Given the description of an element on the screen output the (x, y) to click on. 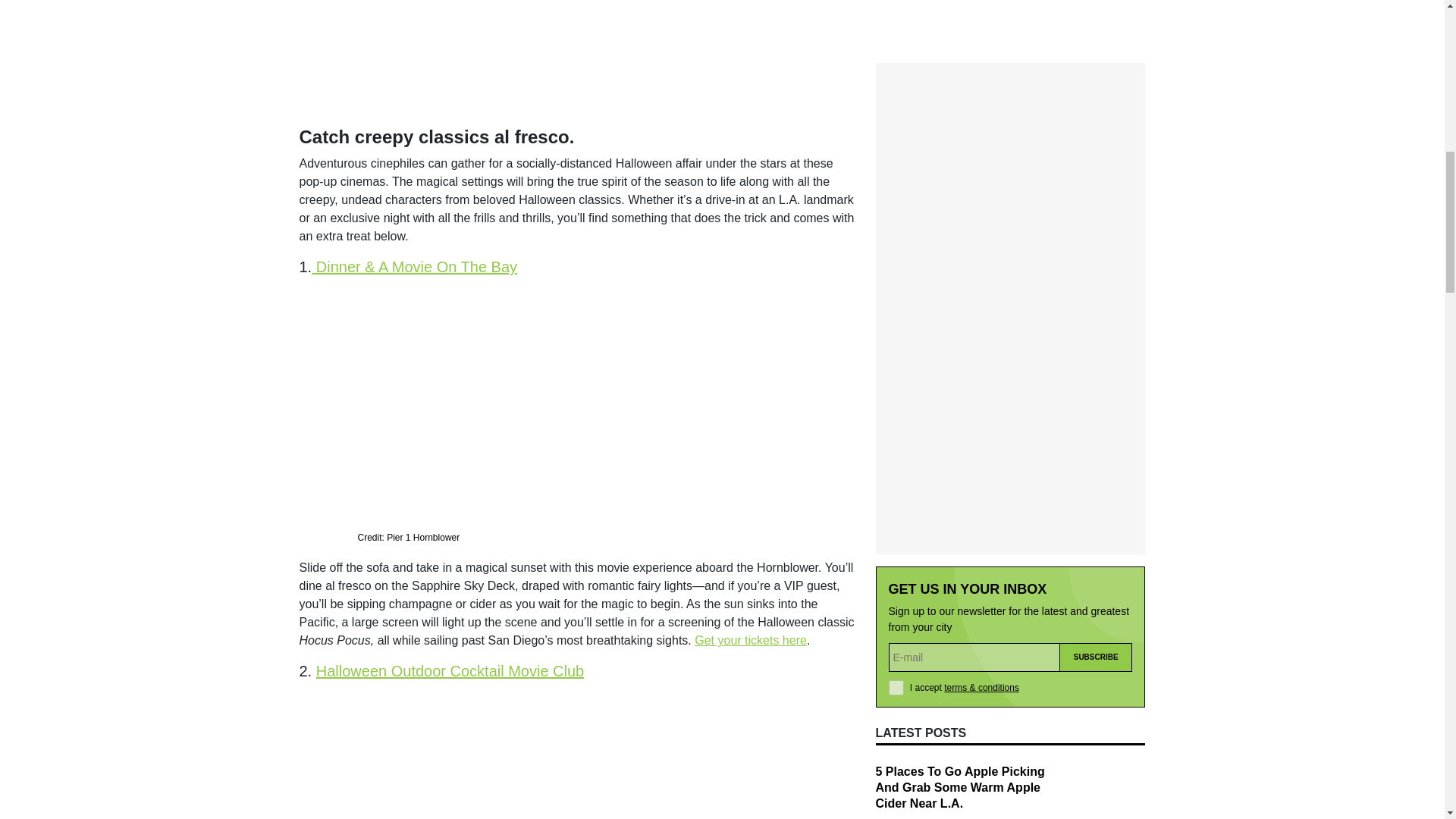
16 Phenomenal Los Angeles Exhibitions To See This August (957, 565)
AUGUST 14, 2024 (913, 606)
Halloween Outdoor Cocktail Movie Club (450, 670)
1 (896, 366)
Get your tickets here (750, 640)
Subscribe (1095, 336)
AUGUST 15, 2024 (913, 508)
Subscribe (1095, 336)
